Given the description of an element on the screen output the (x, y) to click on. 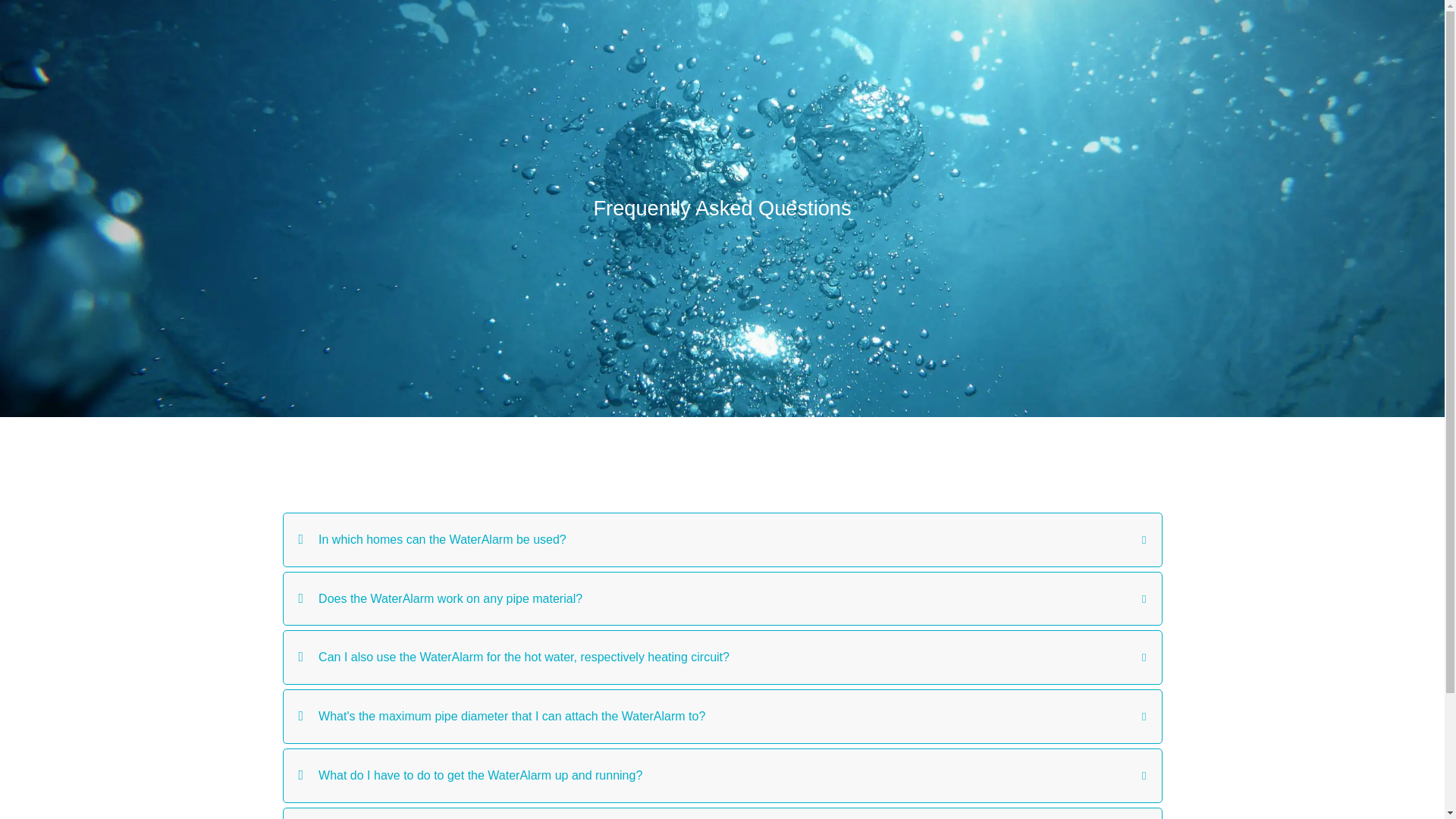
In which homes can the WaterAlarm be used? (721, 539)
Does the WaterAlarm work on any pipe material? (721, 598)
What do I have to do to get the WaterAlarm up and running? (721, 775)
How do I have to setup the WaterAlarm in the Lisios App? (721, 813)
